Given the description of an element on the screen output the (x, y) to click on. 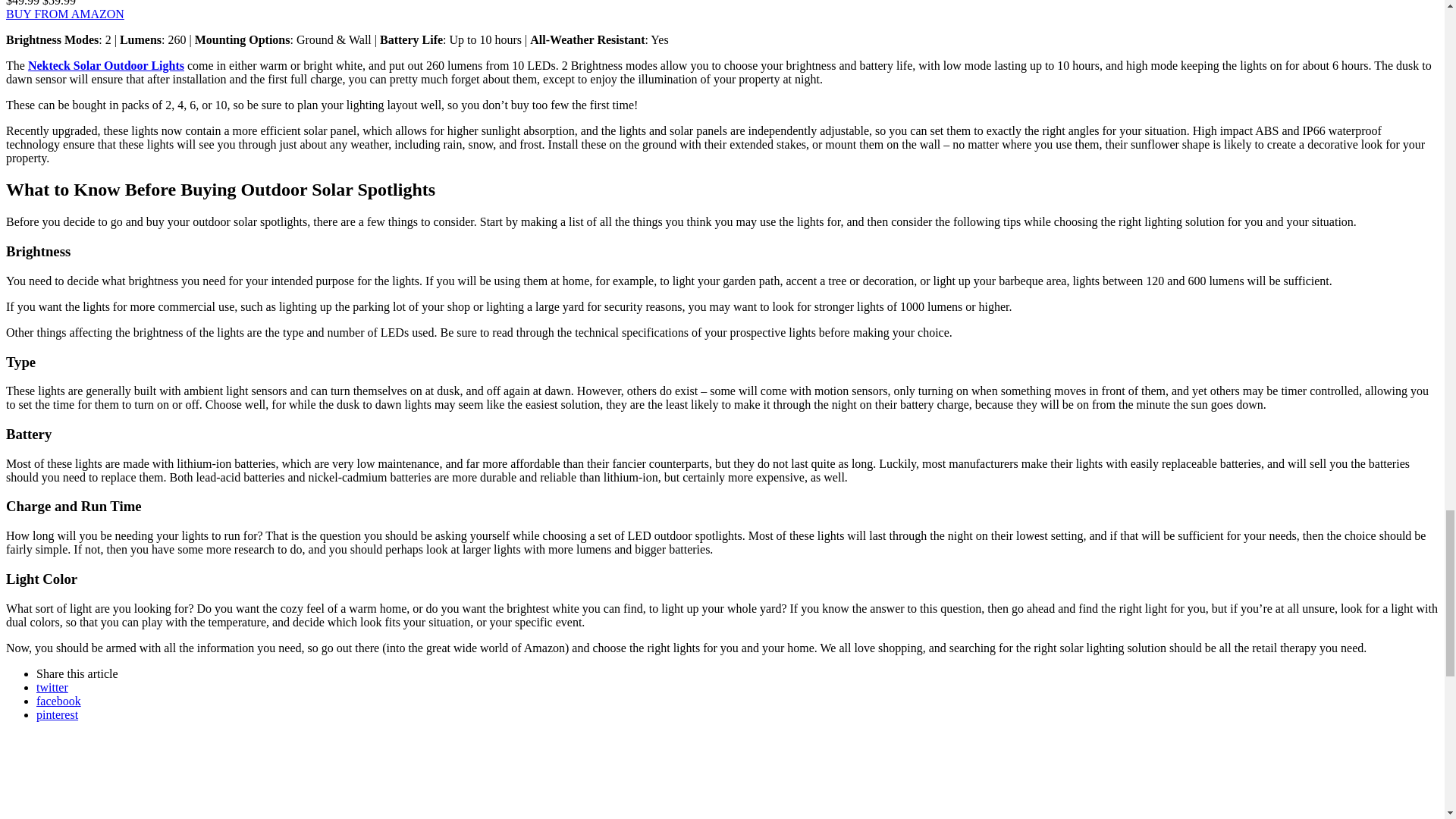
BUY FROM AMAZON (64, 13)
